Given the description of an element on the screen output the (x, y) to click on. 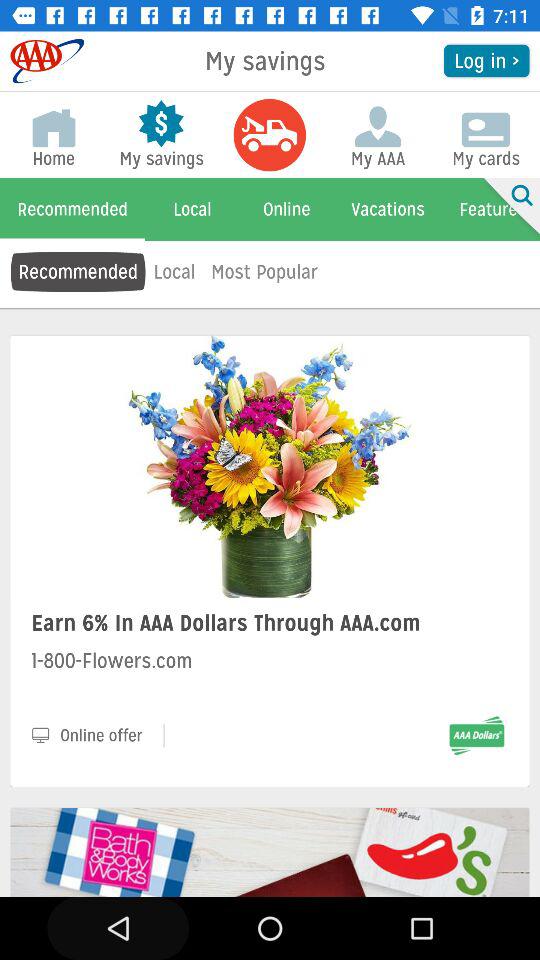
choose most popular (264, 271)
